Given the description of an element on the screen output the (x, y) to click on. 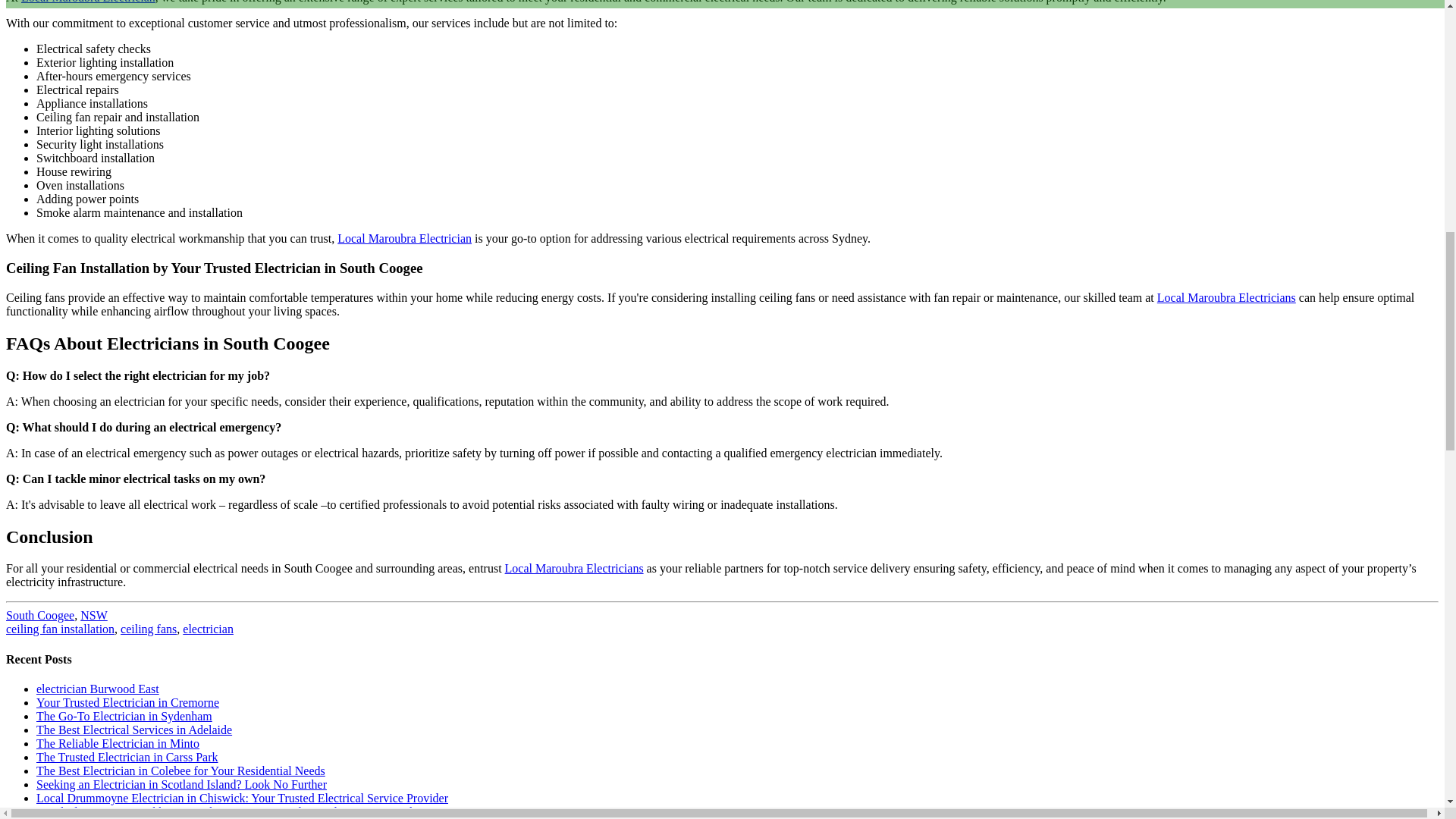
Local Maroubra Electricians (574, 567)
The Reliable Electrician in Minto (117, 743)
The Best Electrician in Colebee for Your Residential Needs (180, 770)
The Go-To Electrician in Sydenham (124, 716)
The Trusted Electrician in Carss Park (127, 757)
Your Trusted Electrician in Cremorne (127, 702)
Local Maroubra Electrician (88, 2)
ceiling fan installation (60, 628)
South Coogee (39, 615)
Local Maroubra Electricians (1226, 297)
ceiling fans (148, 628)
electrician Burwood East (97, 688)
NSW (93, 615)
